Given the description of an element on the screen output the (x, y) to click on. 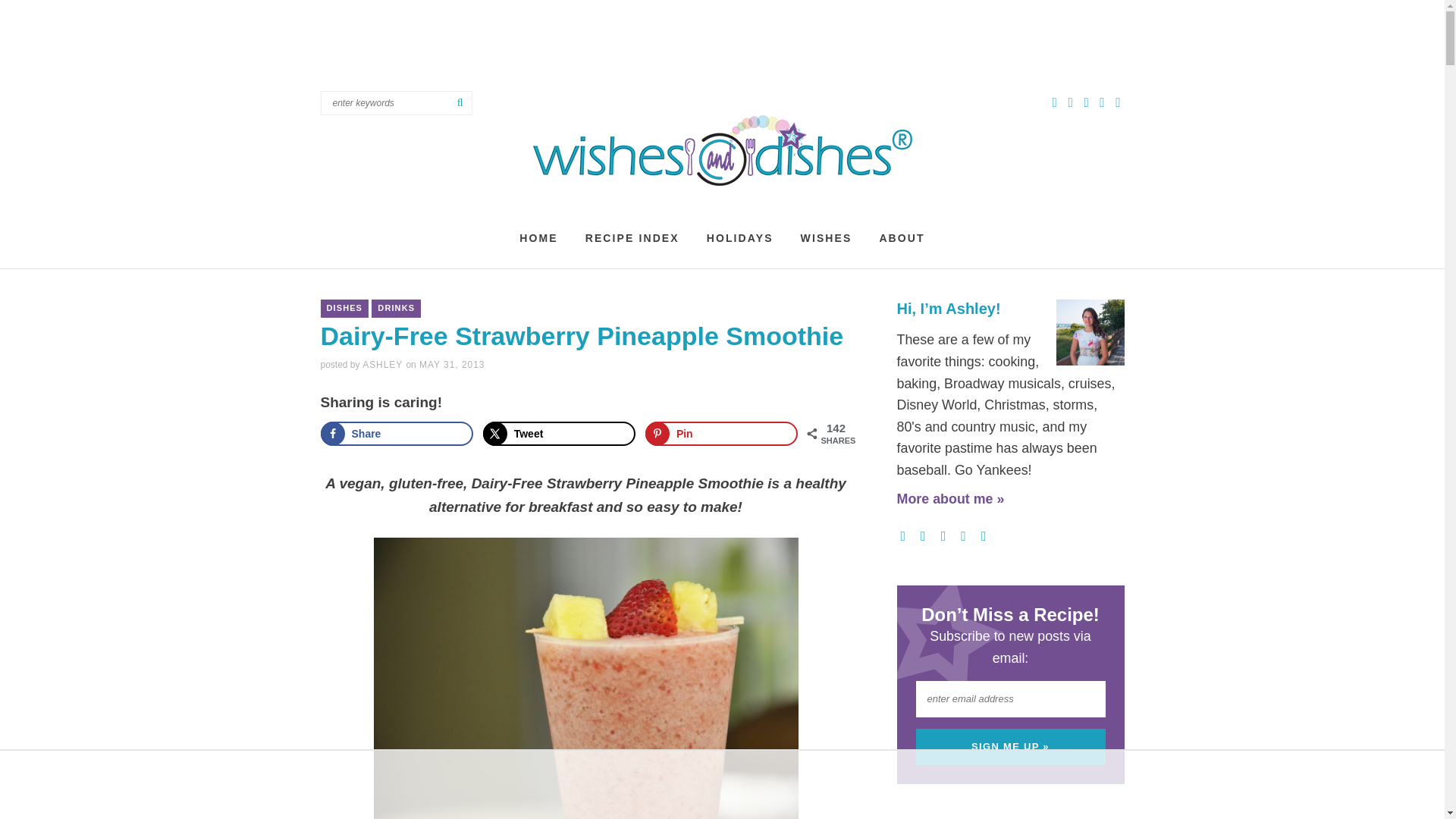
Pinterest (1104, 102)
Instagram (1118, 102)
Share on X (559, 433)
Share on Facebook (396, 433)
Save to Pinterest (721, 433)
RSS (1056, 102)
Twitter (1072, 102)
Facebook (1088, 102)
